Given the description of an element on the screen output the (x, y) to click on. 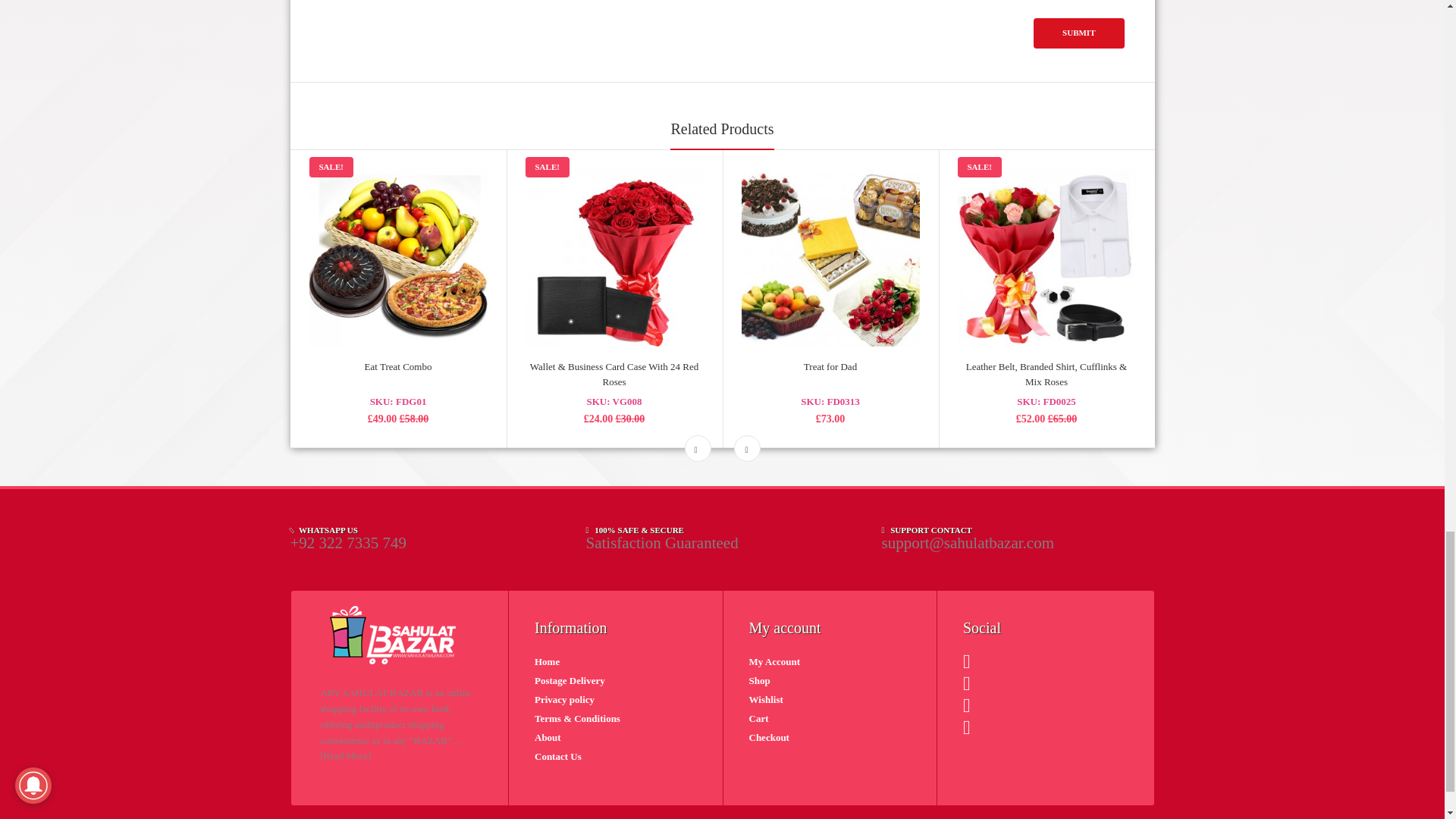
Submit (1078, 33)
